Given the description of an element on the screen output the (x, y) to click on. 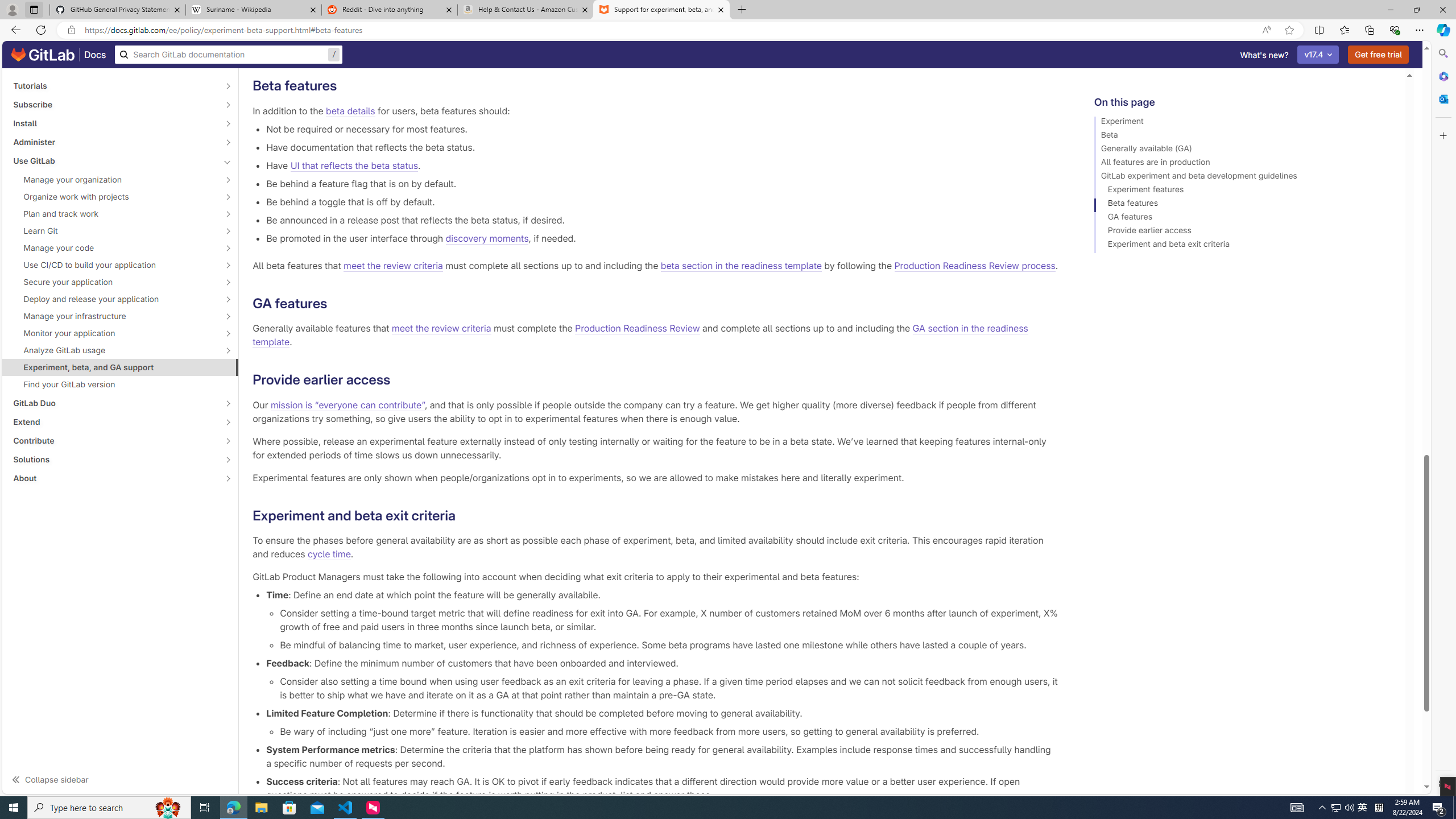
/ (229, 54)
Generally available (GA) (1244, 150)
GitLab experiment and beta development guidelines (1244, 177)
Beta (1244, 136)
Experiment features (1244, 191)
Provide earlier access (1244, 232)
initiate Production Readiness Review (583, 47)
Not be required or necessary for most features. (662, 128)
GitLab documentation home Docs (58, 53)
Production Readiness Review (637, 328)
